Given the description of an element on the screen output the (x, y) to click on. 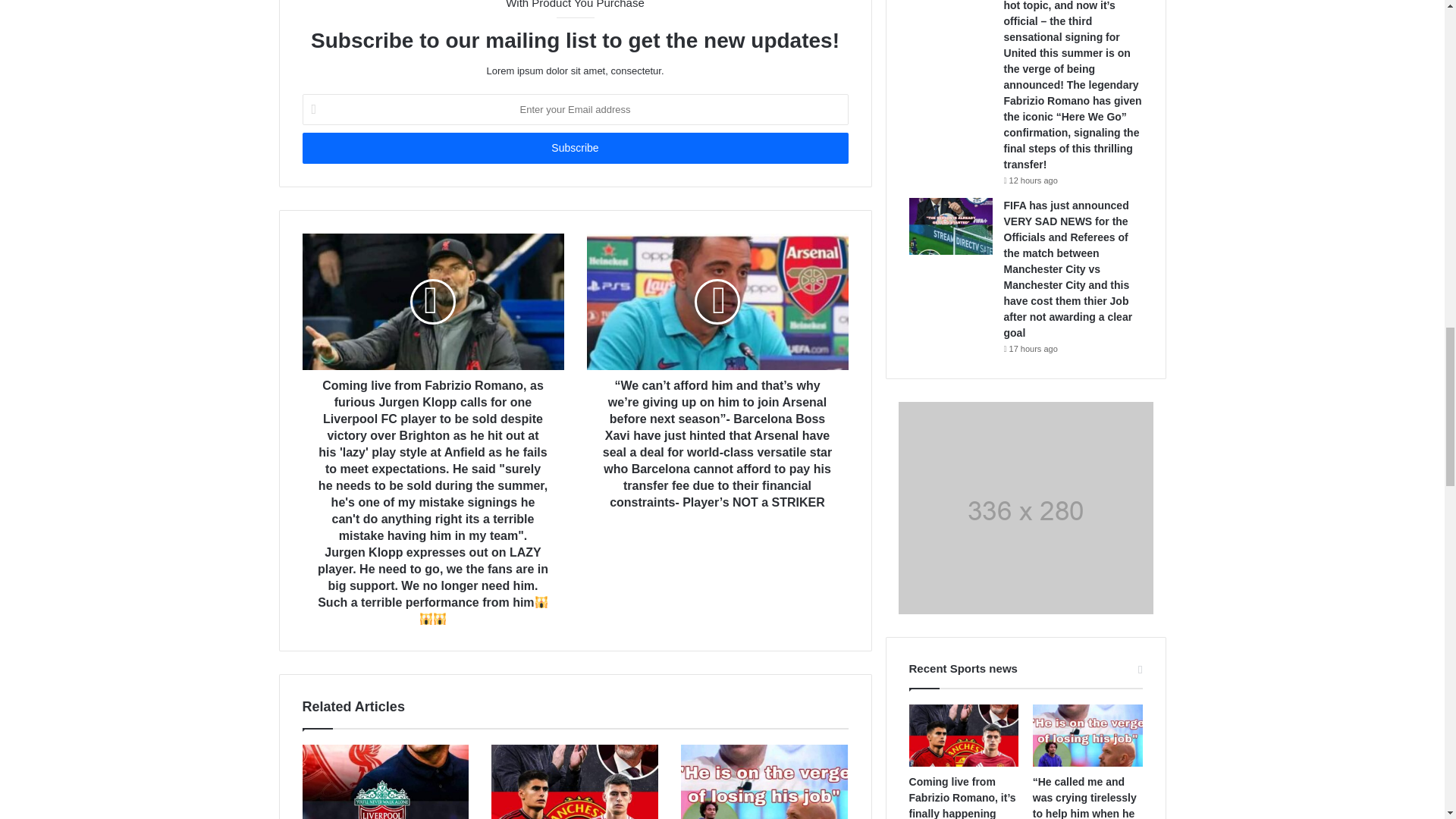
Subscribe (574, 147)
